Given the description of an element on the screen output the (x, y) to click on. 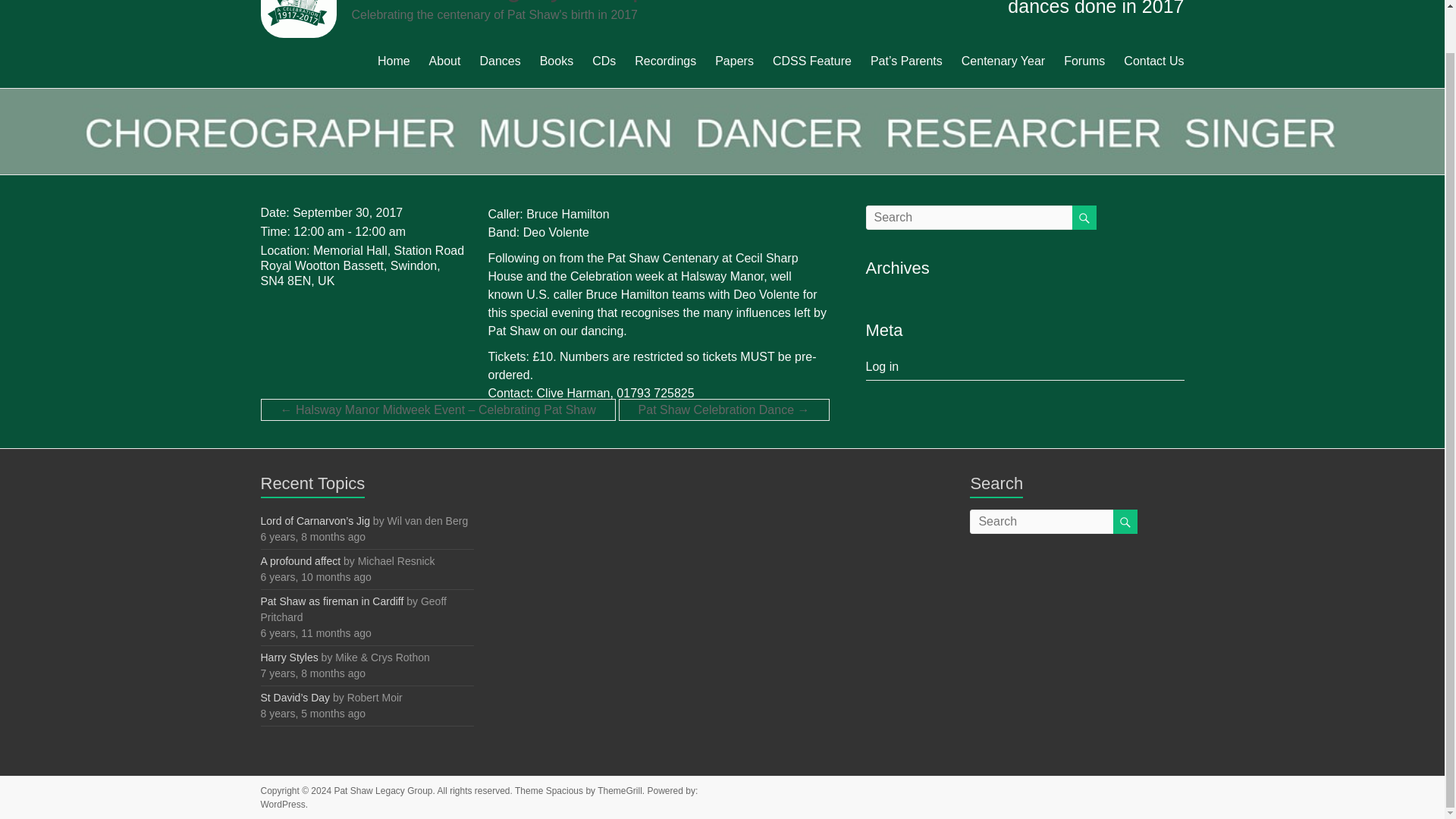
Home (393, 58)
CDSS Feature (812, 58)
Pat Shaw Legacy Group (382, 790)
Papers (734, 58)
Forums (1084, 58)
Dances (499, 58)
Recordings (664, 58)
Contact Us (1153, 58)
